Given the description of an element on the screen output the (x, y) to click on. 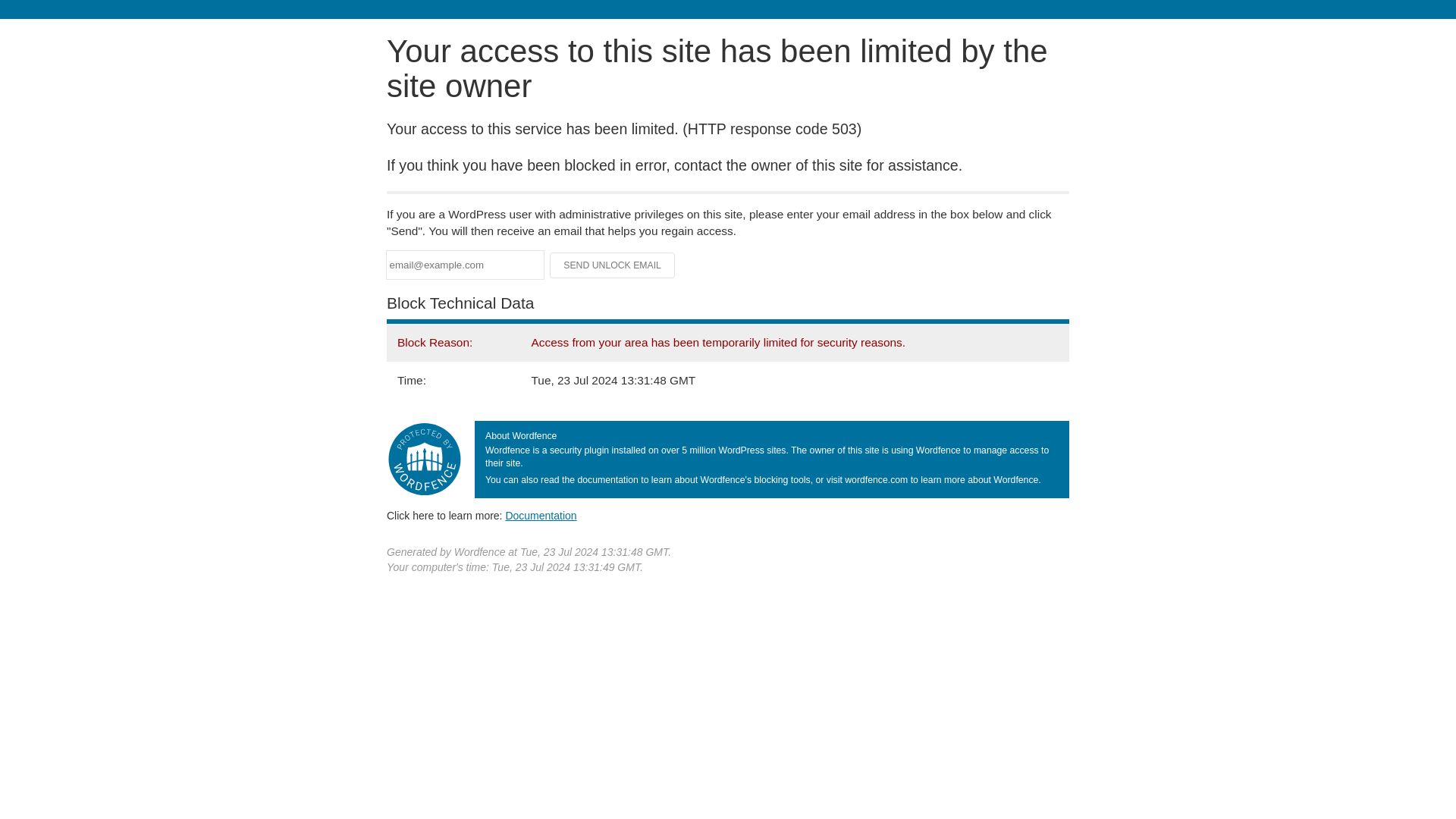
Documentation (540, 515)
Send Unlock Email (612, 265)
Send Unlock Email (612, 265)
